Given the description of an element on the screen output the (x, y) to click on. 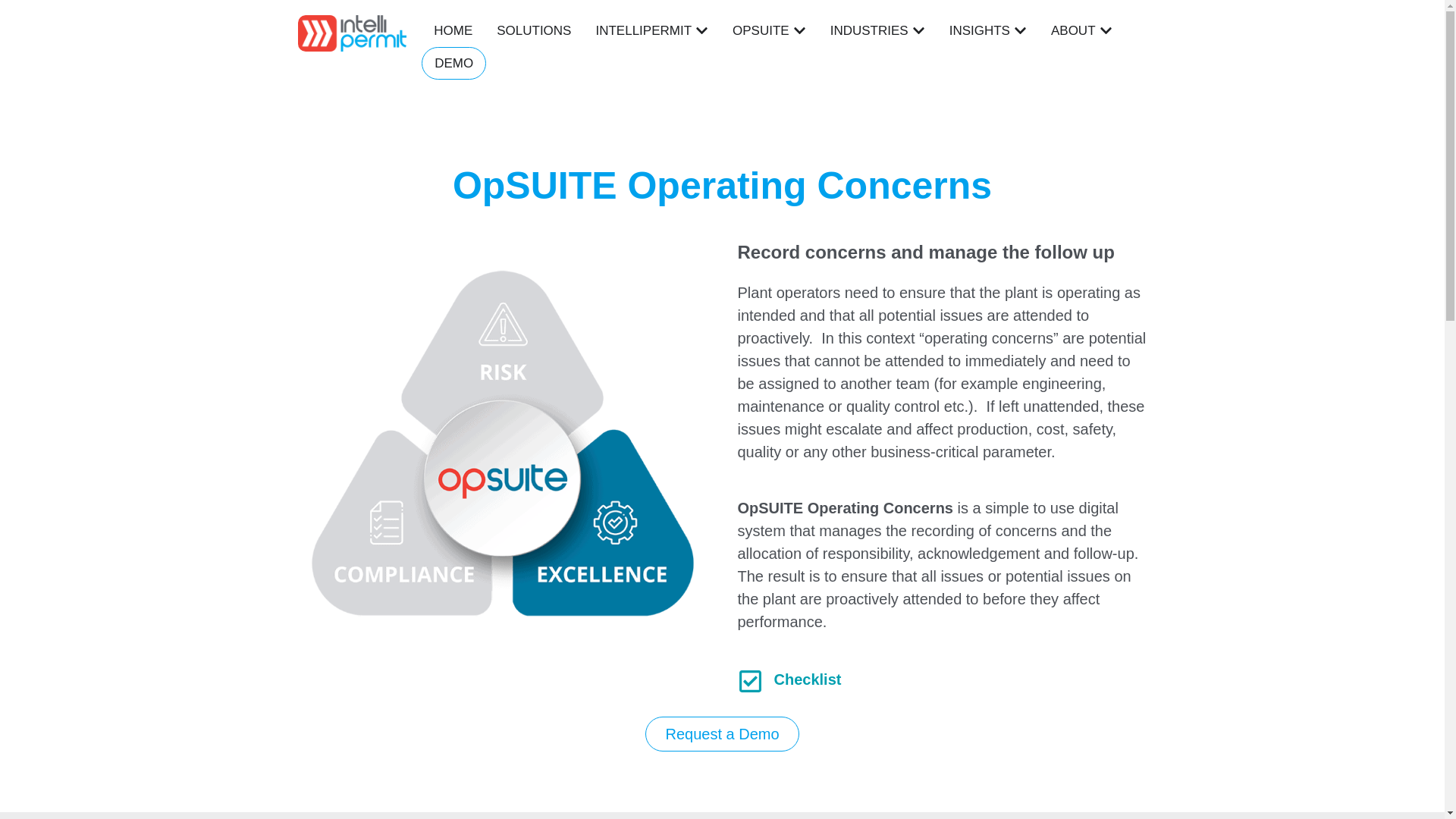
HOME (452, 30)
SOLUTIONS (533, 30)
